Given the description of an element on the screen output the (x, y) to click on. 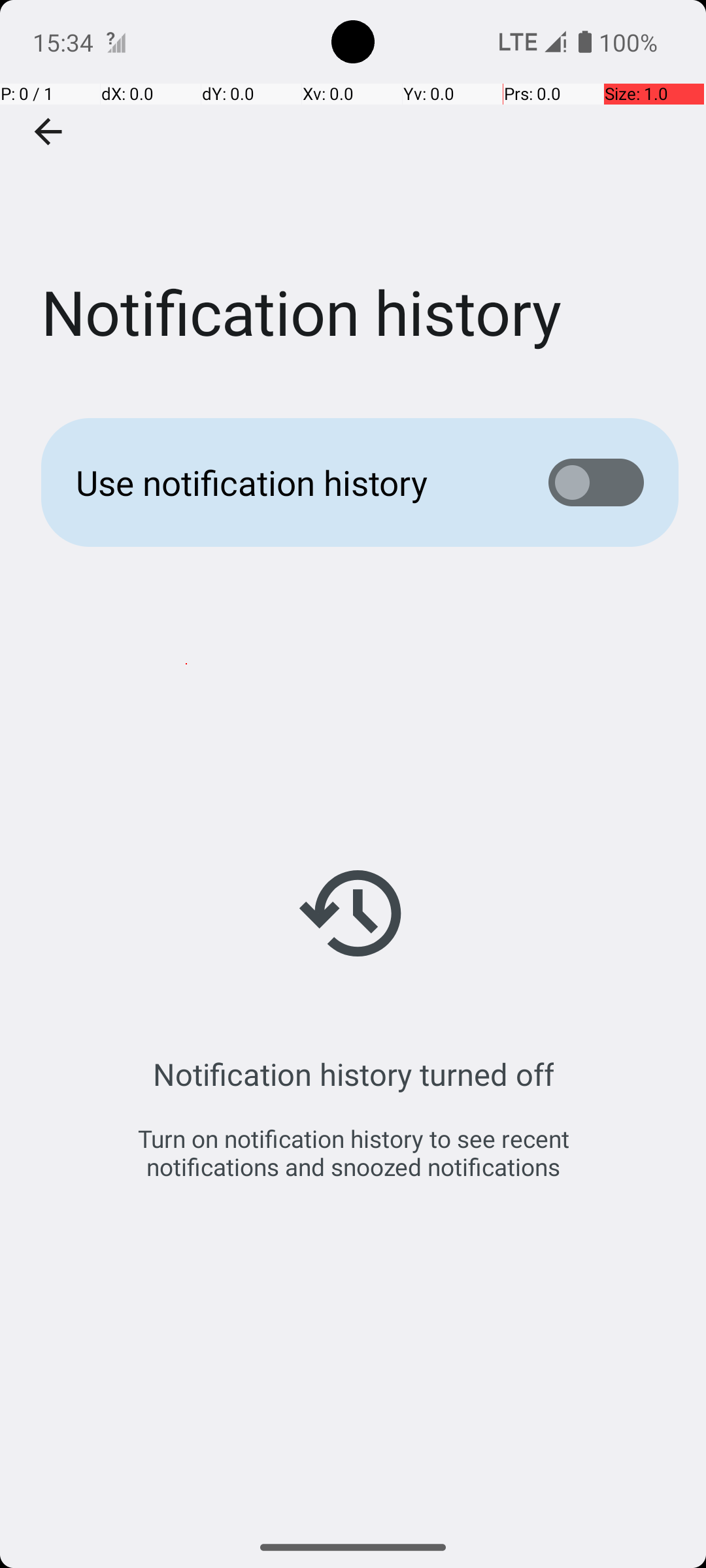
Notification history turned off Element type: android.widget.TextView (352, 1073)
Turn on notification history to see recent notifications and snoozed notifications Element type: android.widget.TextView (352, 1152)
Use notification history Element type: android.widget.TextView (291, 482)
